Given the description of an element on the screen output the (x, y) to click on. 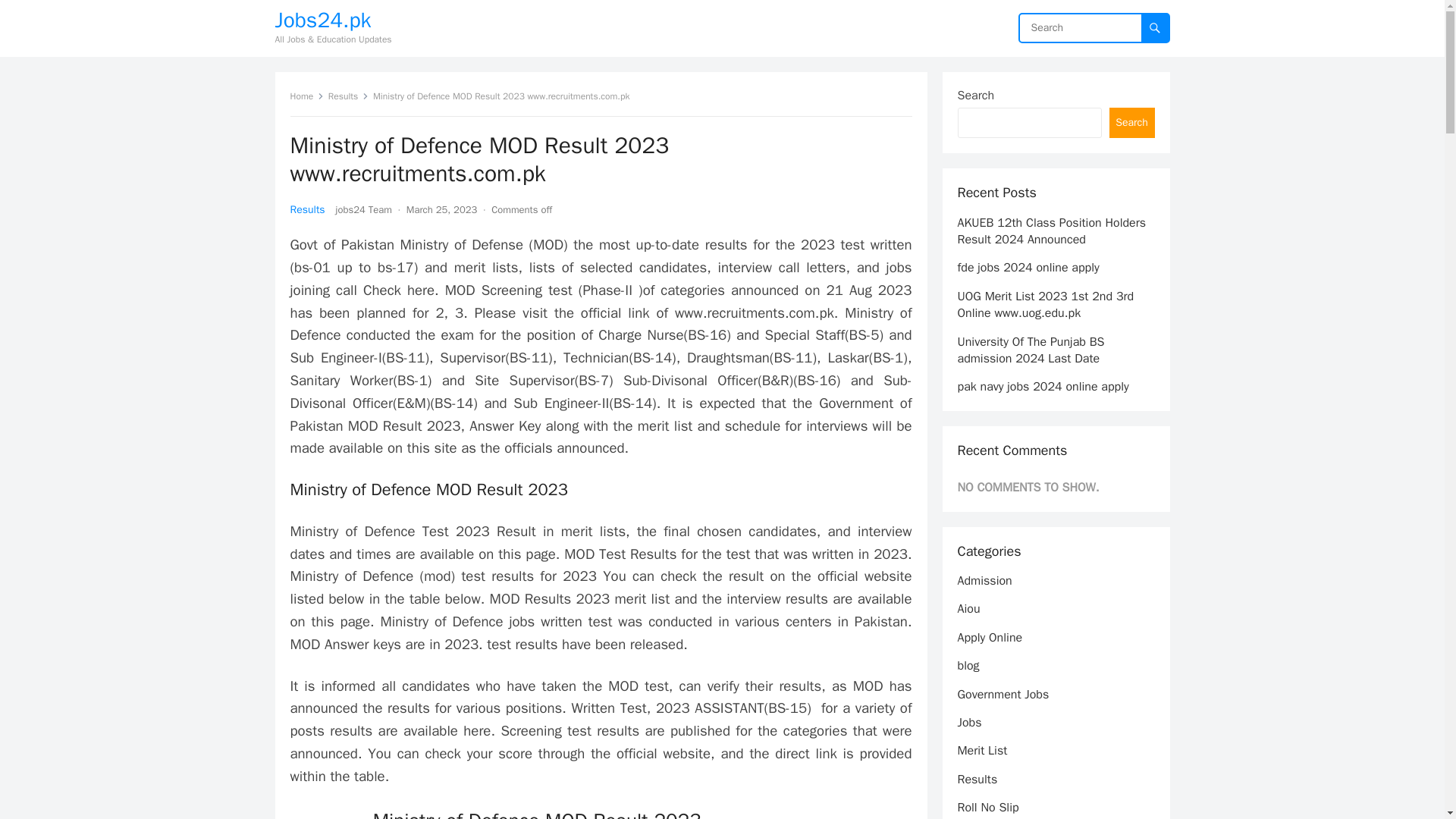
Jobs24.pk (333, 20)
jobs24 Team (363, 209)
Results (349, 96)
Home (306, 96)
Posts by jobs24 Team (363, 209)
Results (306, 209)
